Given the description of an element on the screen output the (x, y) to click on. 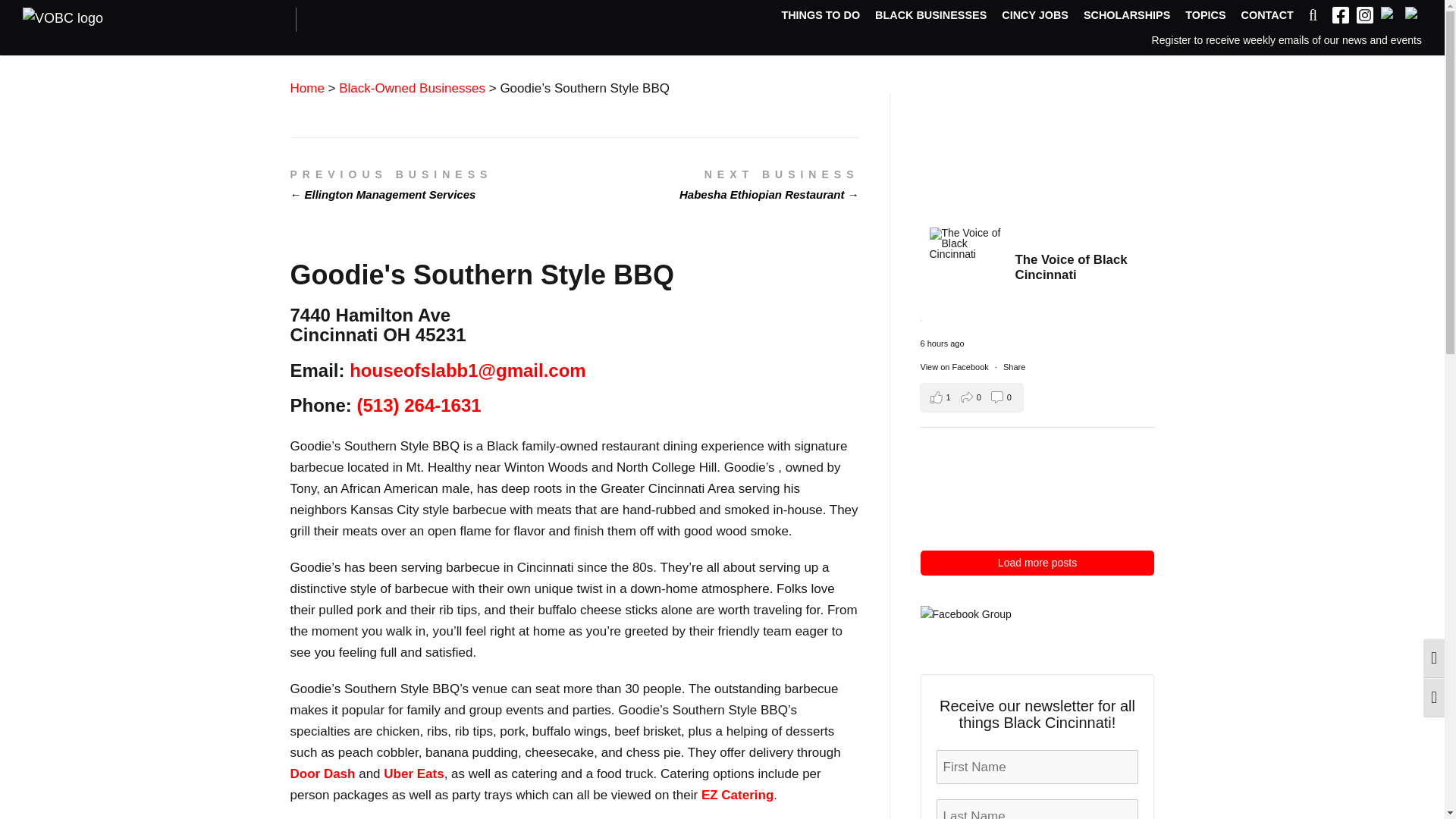
TOPICS (1205, 16)
SCHOLARSHIPS (1126, 16)
Likebox Content (1037, 485)
BLACK BUSINESSES (931, 16)
CINCY JOBS (1034, 16)
THINGS TO DO (820, 16)
